Given the description of an element on the screen output the (x, y) to click on. 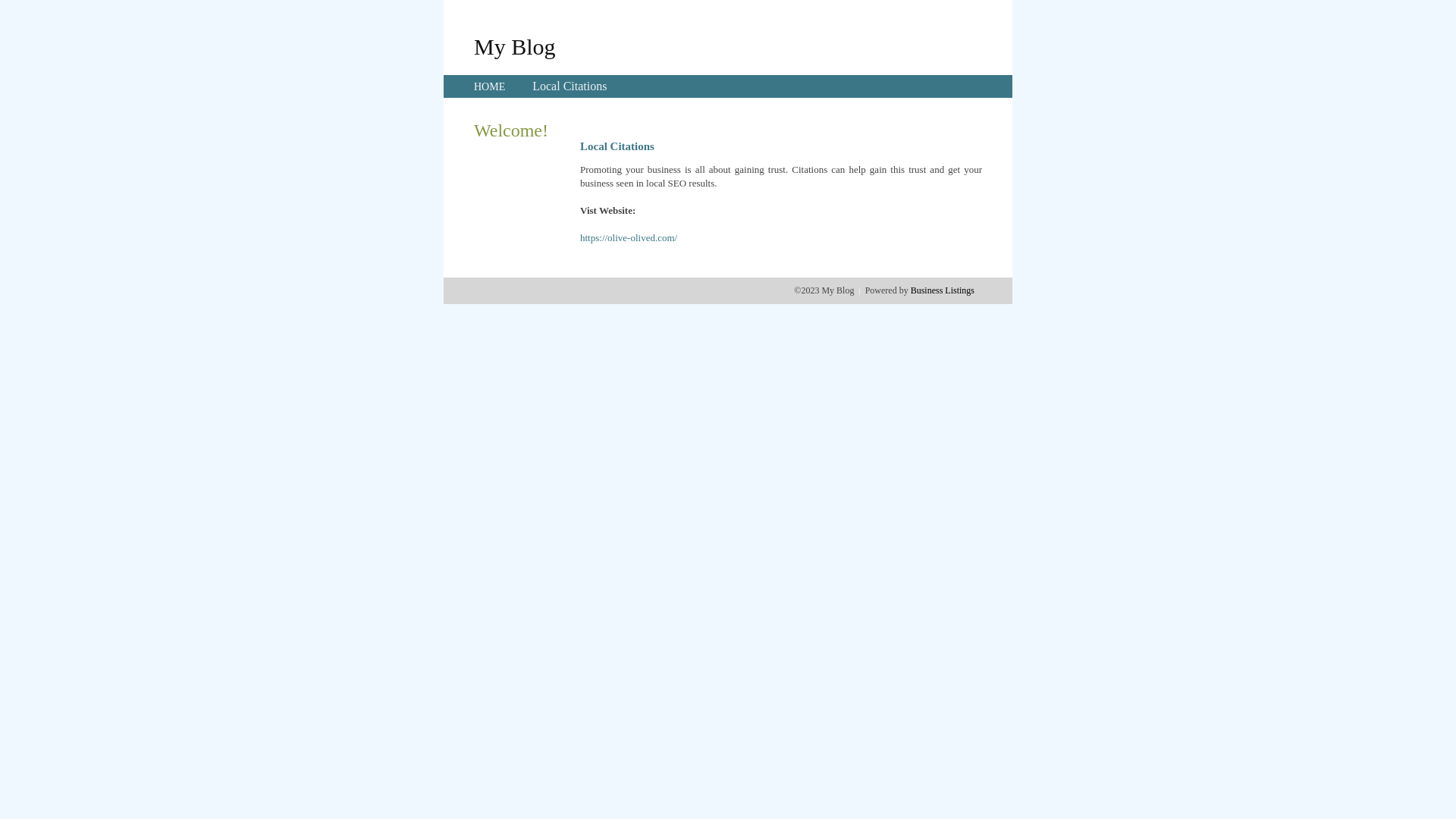
Local Citations Element type: text (569, 85)
Business Listings Element type: text (942, 290)
HOME Element type: text (489, 86)
My Blog Element type: text (514, 46)
https://olive-olived.com/ Element type: text (628, 237)
